Given the description of an element on the screen output the (x, y) to click on. 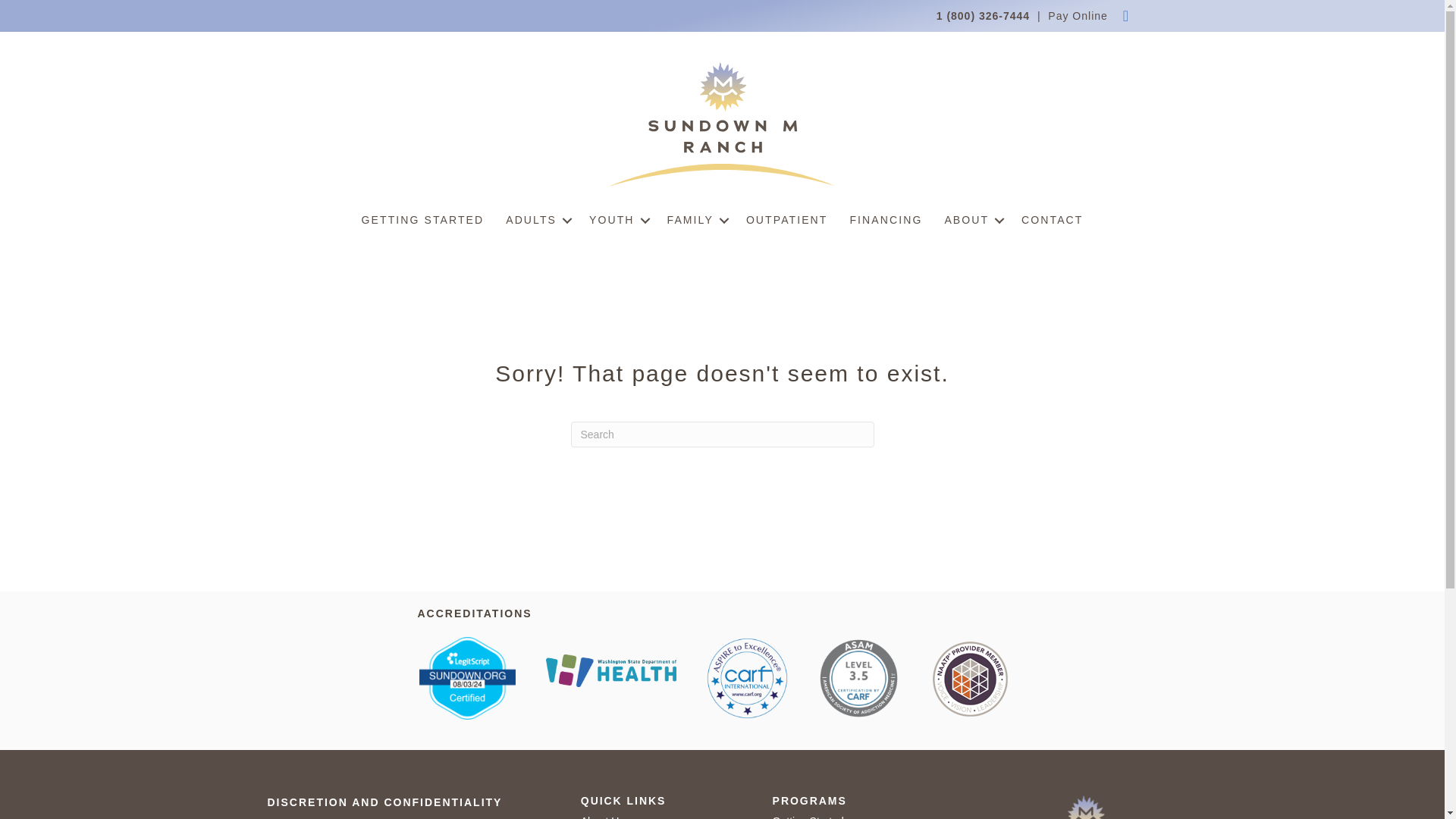
Pay Online (1077, 15)
About Us (602, 816)
FAMILY (695, 220)
Type and press Enter to search. (721, 434)
CARF-accredited (746, 678)
YOUTH (617, 220)
QUICK LINKS (623, 800)
OUTPATIENT (786, 220)
GETTING STARTED (422, 220)
Verify LegitScript Approval (467, 676)
ADULTS (536, 220)
CONTACT (1051, 220)
FINANCING (885, 220)
ASAM-certification-transparent (858, 678)
ABOUT (971, 220)
